Given the description of an element on the screen output the (x, y) to click on. 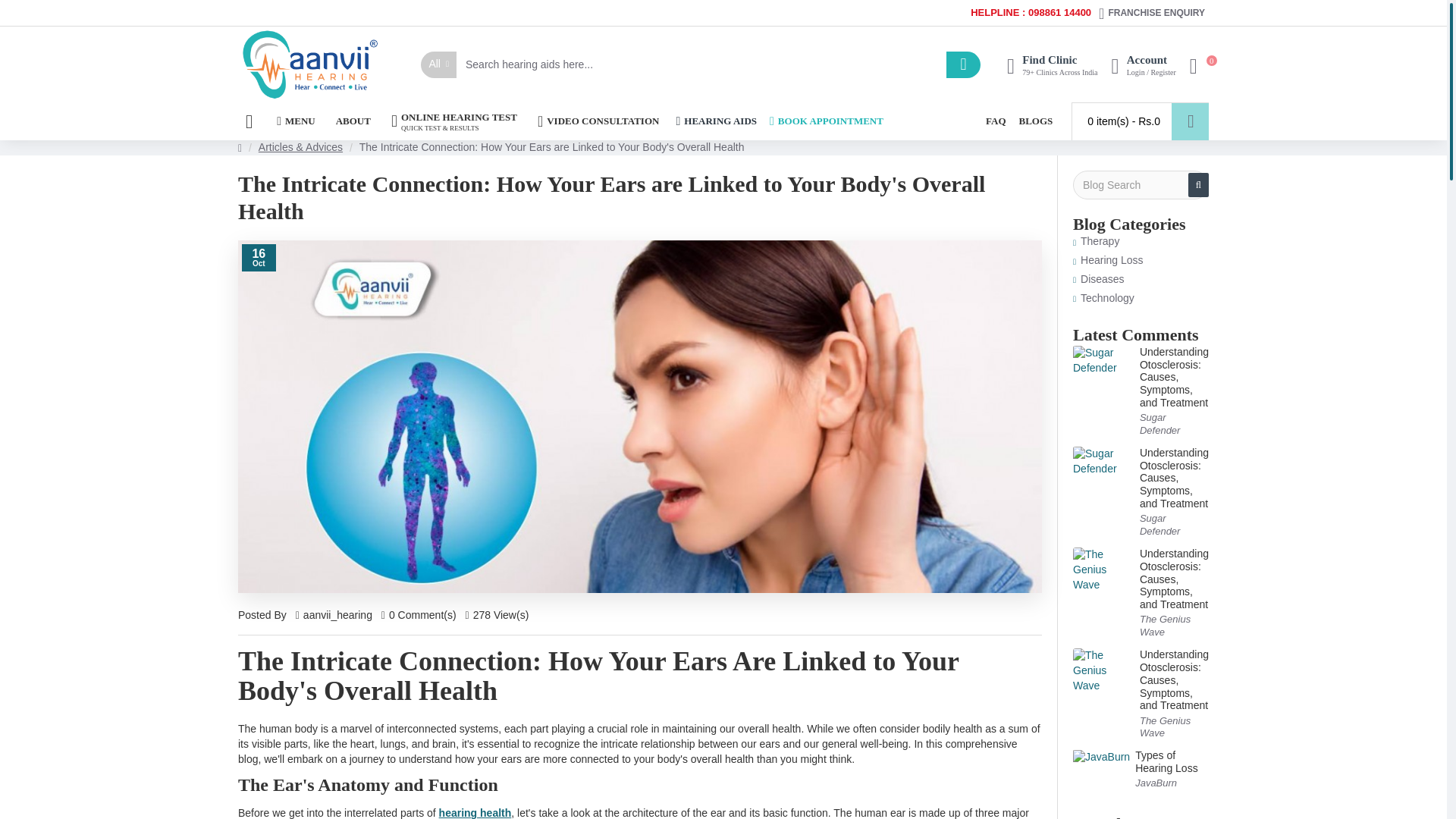
FRANCHISE ENQUIRY (1151, 12)
MENU (296, 121)
Aanvii Hearing (310, 64)
HELPLINE : 098861 14400 (1030, 13)
